Given the description of an element on the screen output the (x, y) to click on. 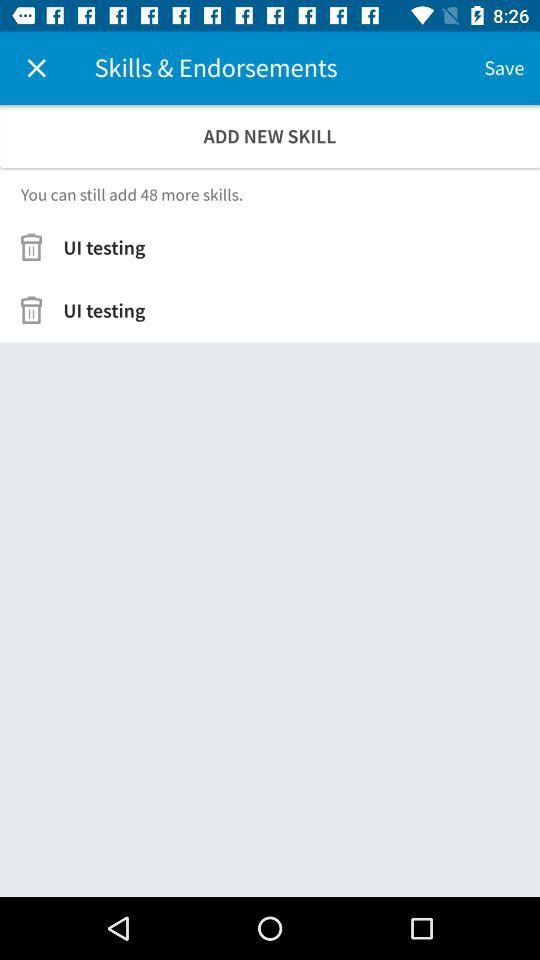
open icon above the add new skill icon (36, 68)
